Given the description of an element on the screen output the (x, y) to click on. 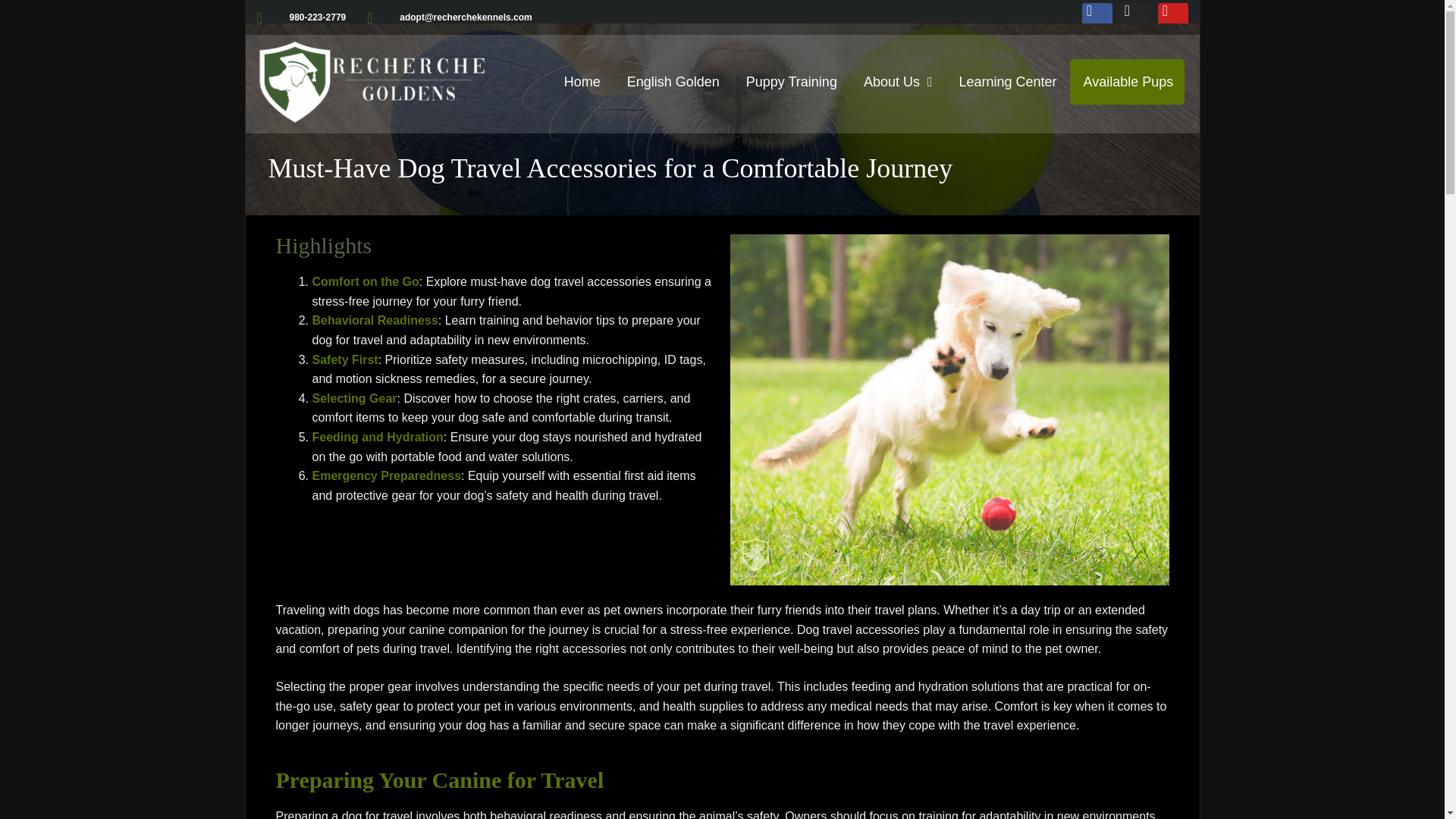
About Us (897, 81)
Home (582, 81)
Puppy Training (791, 81)
980-223-2779 (301, 17)
English Golden (672, 81)
